Given the description of an element on the screen output the (x, y) to click on. 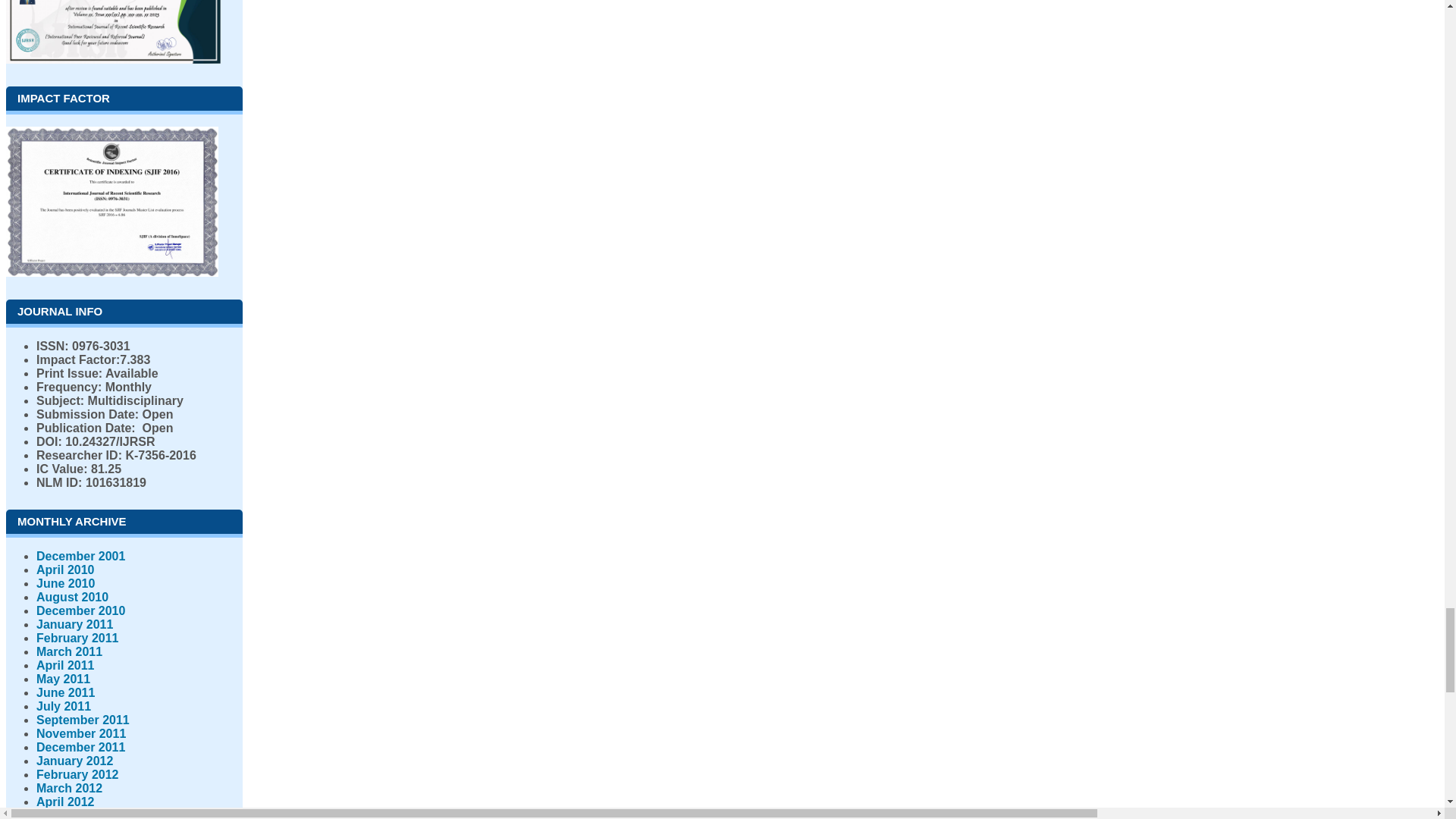
December 2001 (80, 554)
